Given the description of an element on the screen output the (x, y) to click on. 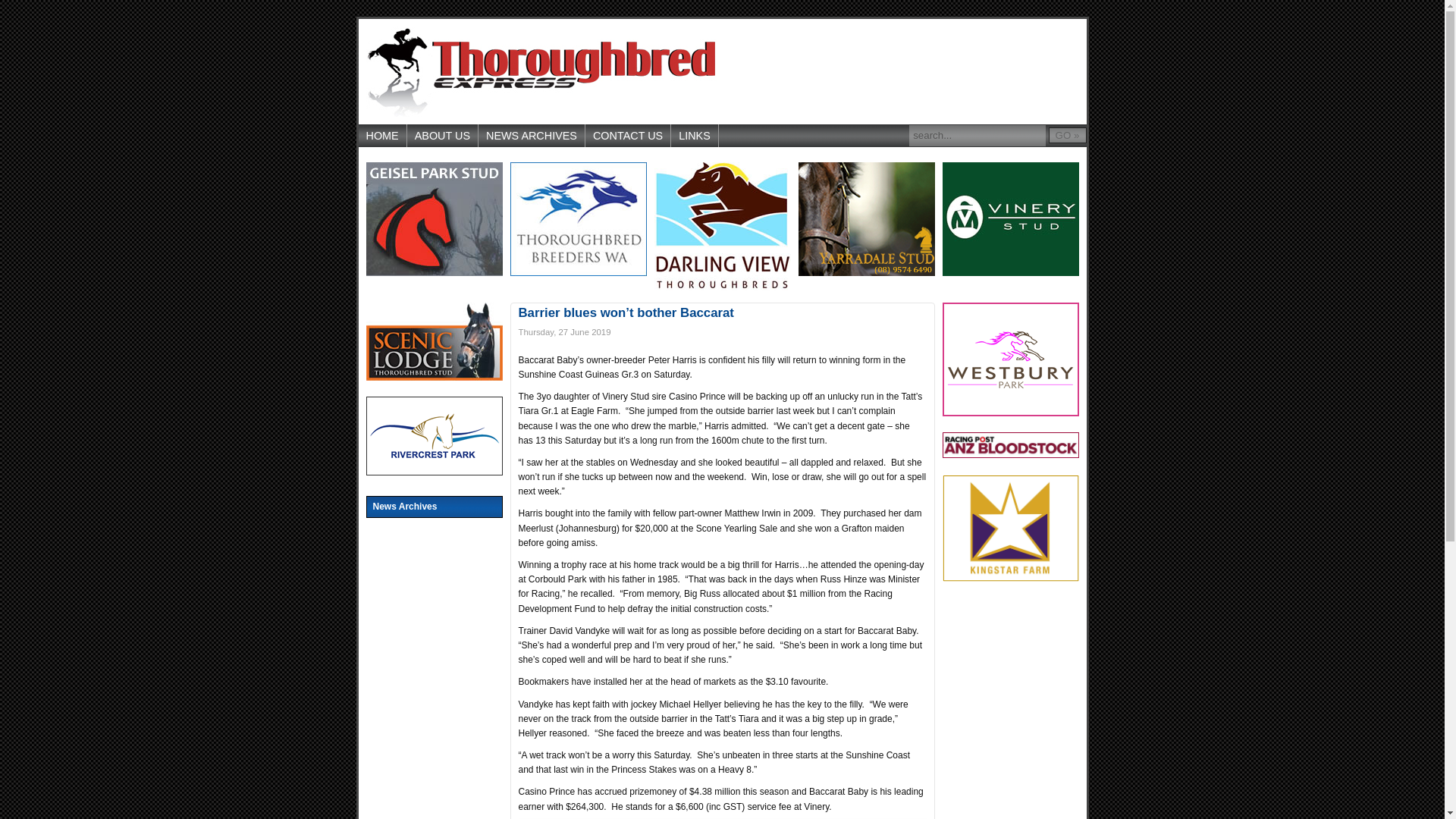
LINKS (695, 135)
CONTACT US (628, 135)
NEWS ARCHIVES (532, 135)
Thoroughbred Express (540, 71)
search... (976, 135)
HOME (382, 135)
Thoroughbred Express (540, 71)
News Archives (433, 506)
ABOUT US (443, 135)
